Given the description of an element on the screen output the (x, y) to click on. 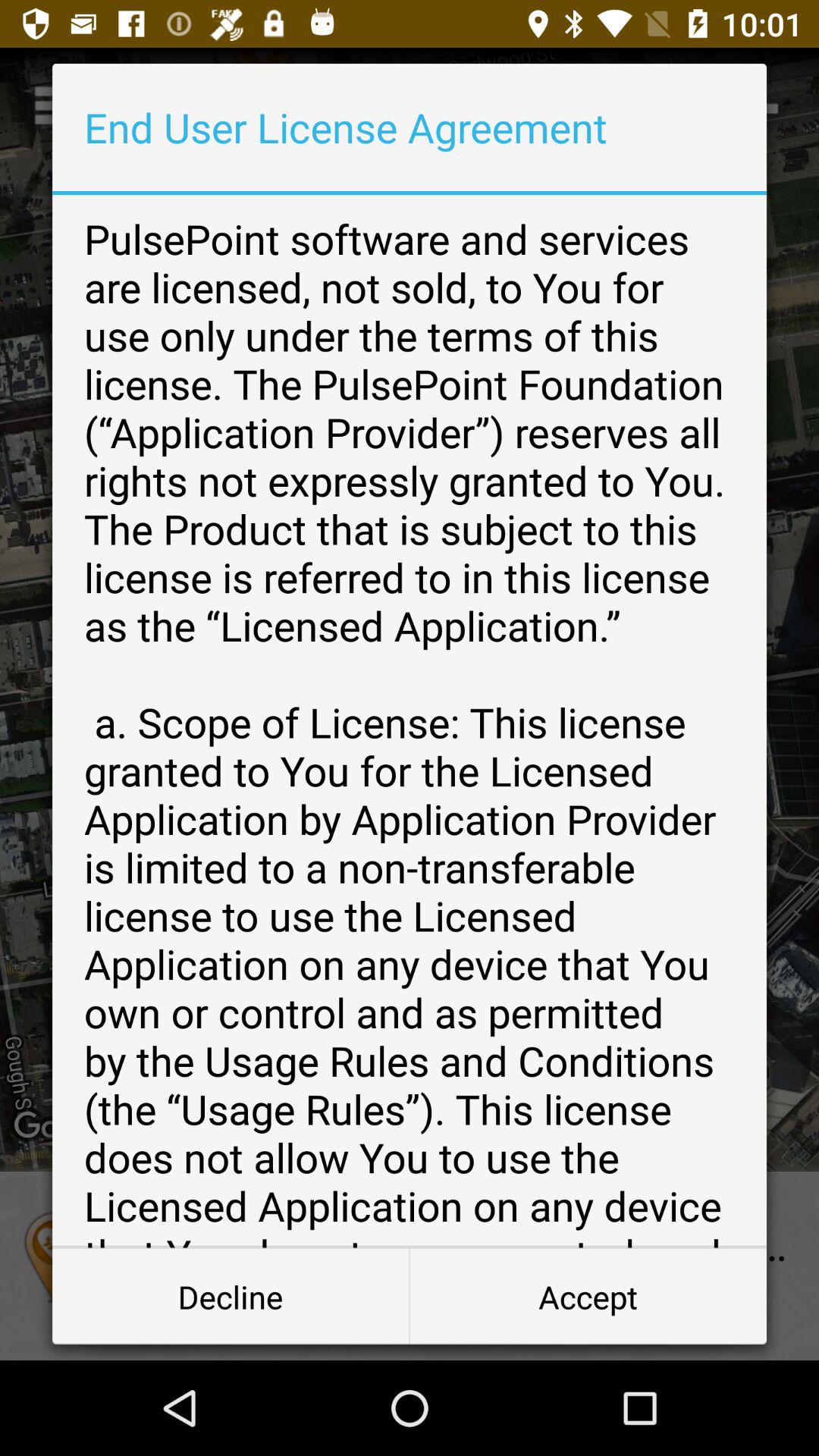
tap button to the right of decline item (588, 1296)
